Given the description of an element on the screen output the (x, y) to click on. 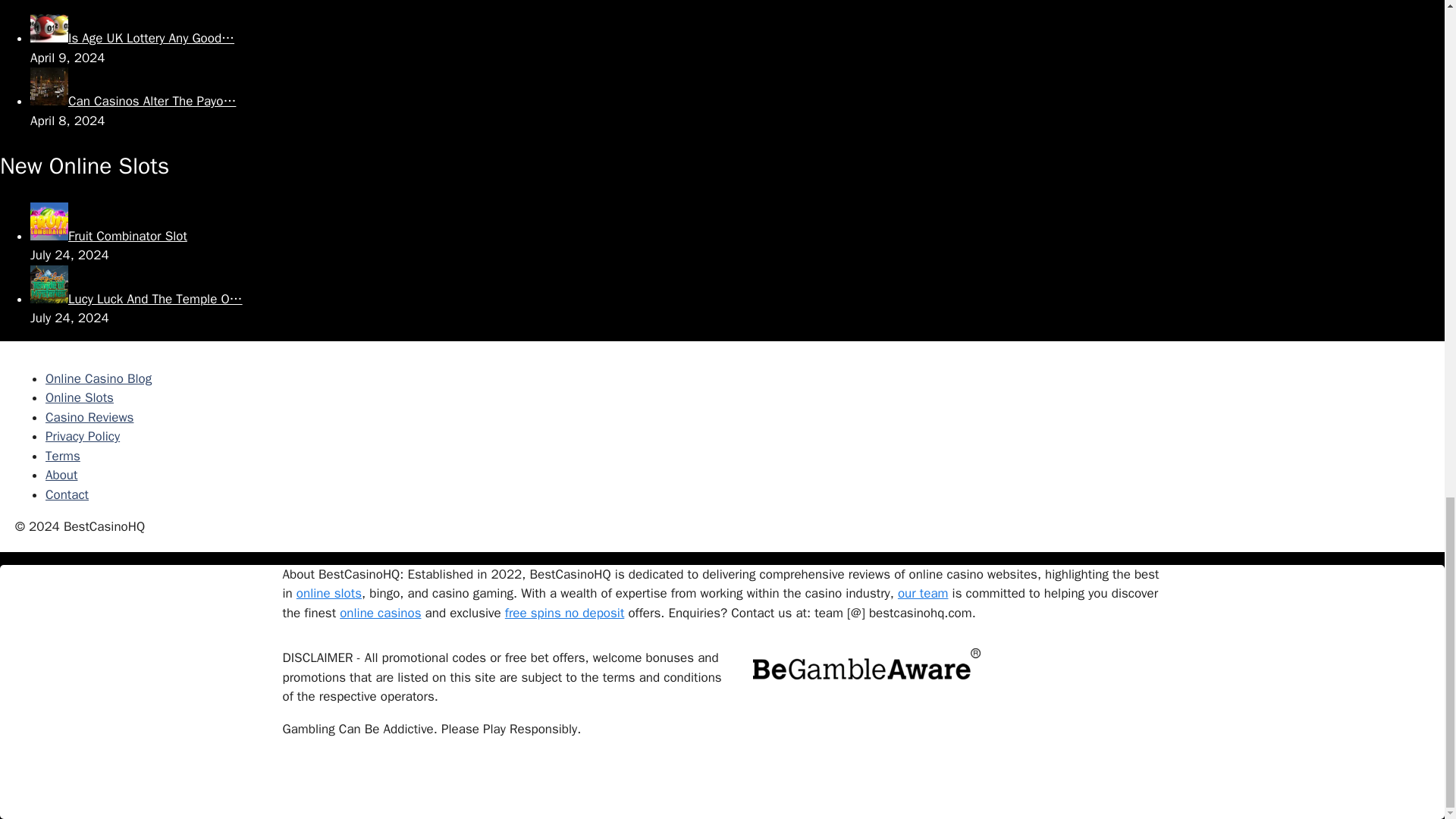
Fruit Combinator Slot (108, 236)
Casino Reviews (89, 417)
Online Casino Blog (98, 378)
Online Slots (79, 397)
Privacy Policy (82, 436)
Terms (62, 455)
our team (923, 593)
About (61, 474)
Contact (66, 494)
online slots (329, 593)
